Given the description of an element on the screen output the (x, y) to click on. 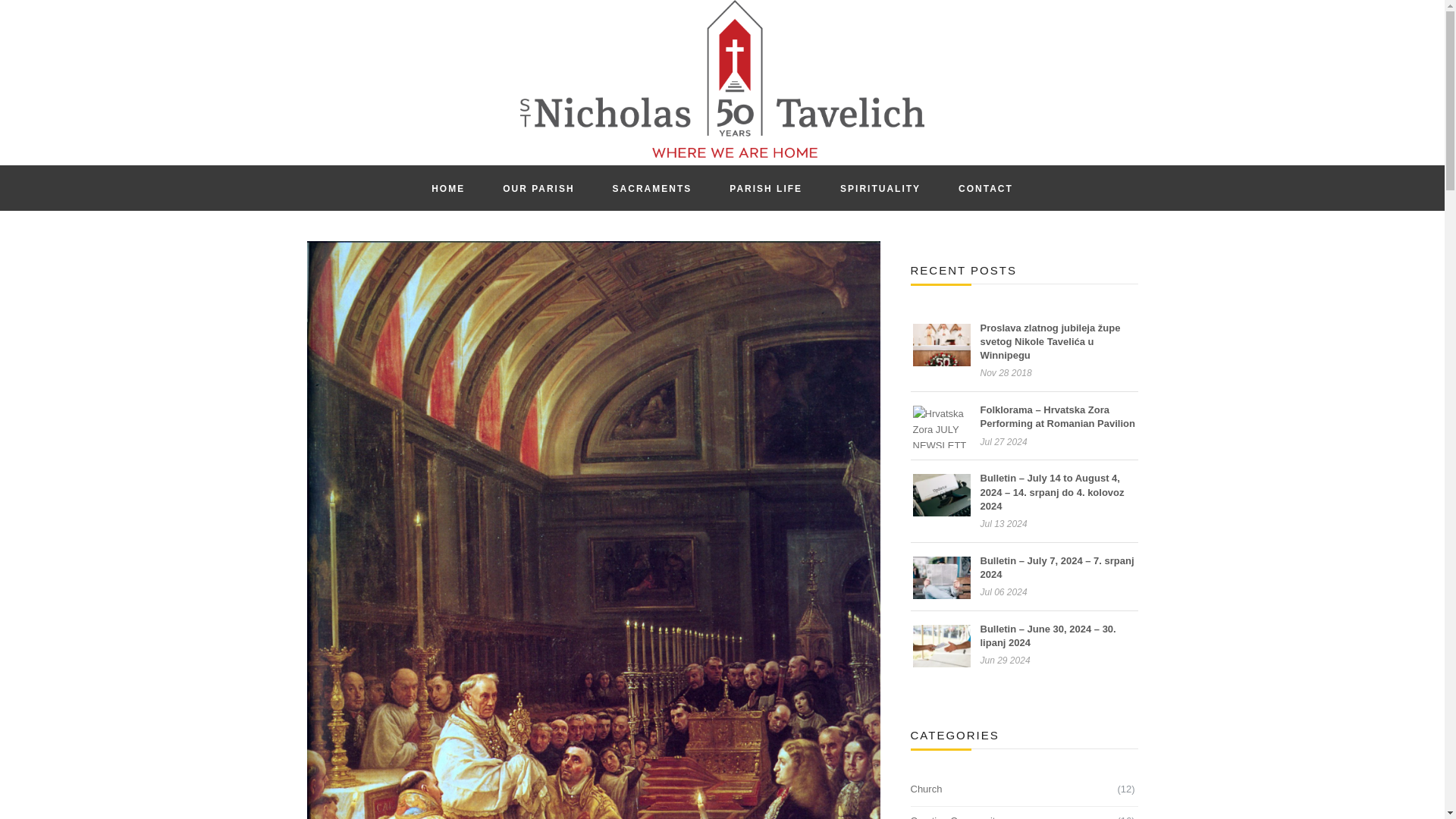
HOME (447, 188)
PARISH LIFE (765, 188)
SACRAMENTS (652, 188)
CONTACT (985, 188)
OUR PARISH (537, 188)
SPIRITUALITY (880, 188)
